Given the description of an element on the screen output the (x, y) to click on. 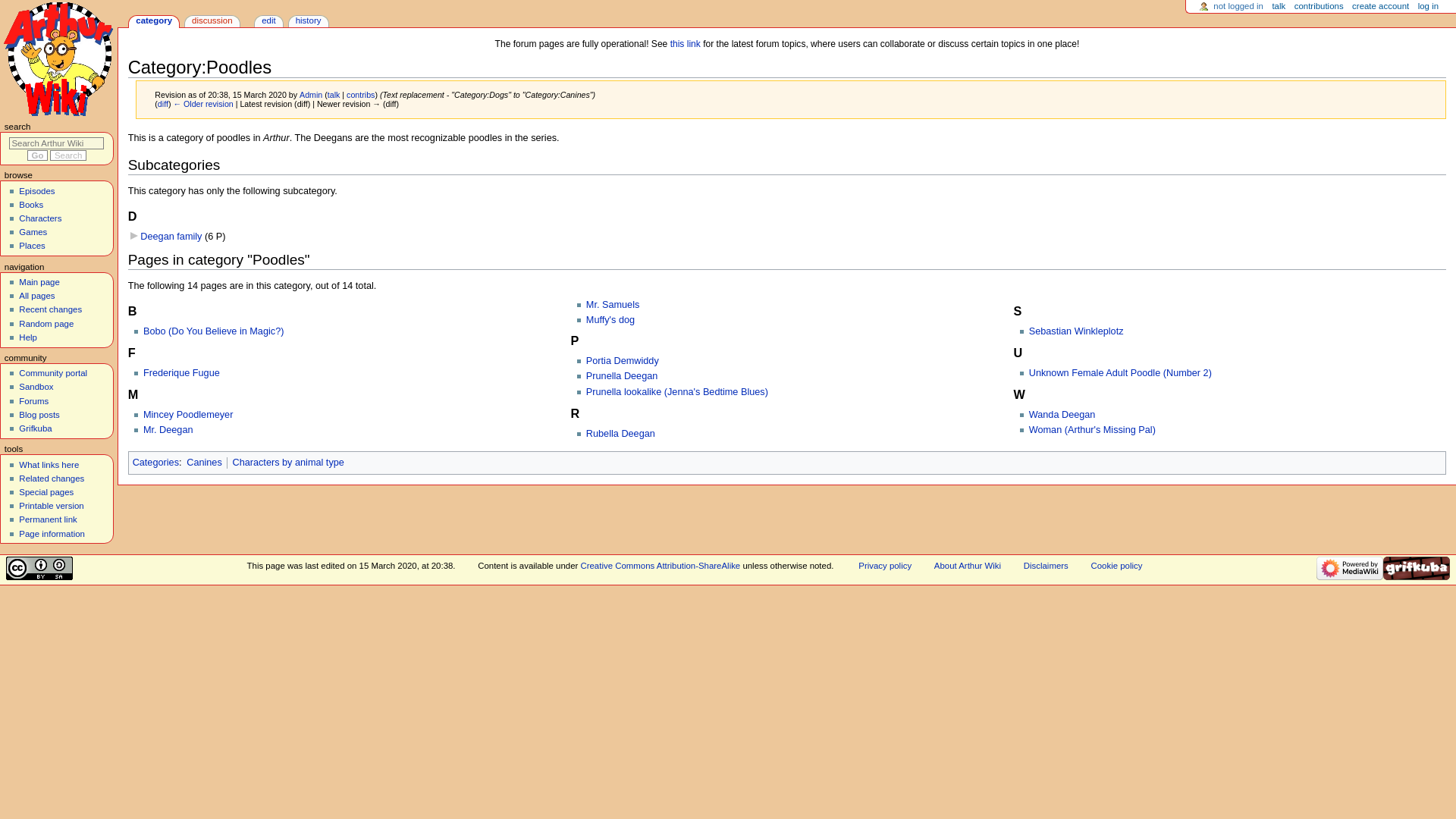
history (308, 21)
Sebastian Winkleplotz (1076, 330)
Mr. Deegan (167, 429)
edit (268, 21)
Deegan family (170, 235)
discussion (212, 21)
Contains 0 subcategories, 6 pages, and 0 files (215, 235)
Portia Demwiddy (622, 360)
talk (1278, 6)
Frederique Fugue (180, 372)
category (154, 21)
contributions (1318, 6)
Search (67, 154)
Frederique Fugue (180, 372)
Search (67, 154)
